Given the description of an element on the screen output the (x, y) to click on. 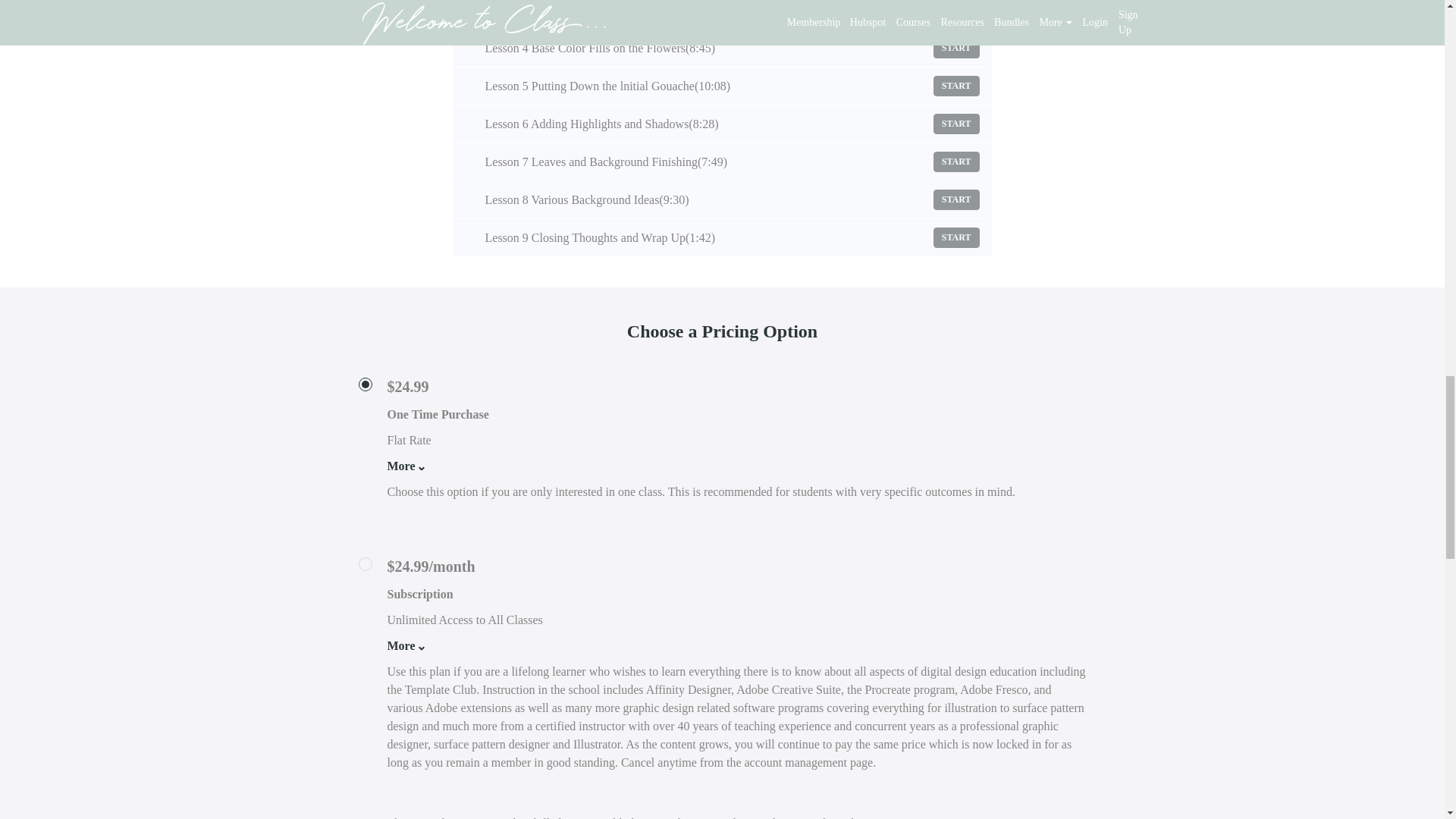
START (956, 10)
START (956, 161)
START (956, 199)
START (956, 237)
START (956, 47)
START (956, 86)
More (402, 466)
START (956, 123)
More (402, 646)
